Given the description of an element on the screen output the (x, y) to click on. 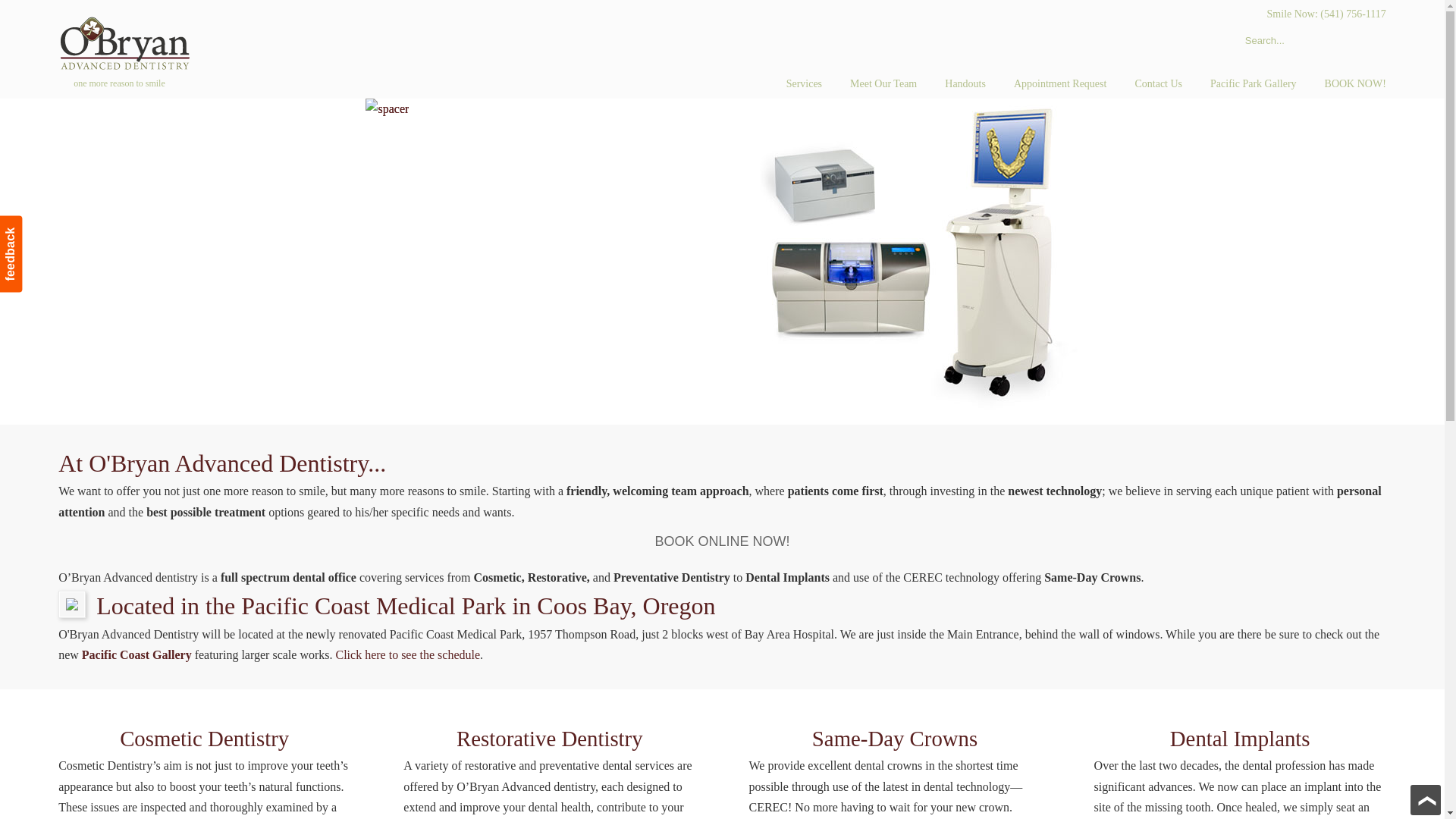
Pacific Park Gallery (1253, 83)
search (1370, 40)
Dental Implants (1240, 738)
Handouts (965, 83)
Cosmetic Dentistry (203, 738)
Contact Us (1157, 83)
Services (804, 83)
search (1370, 40)
feedback (37, 227)
Same-Day Crowns (894, 738)
